Given the description of an element on the screen output the (x, y) to click on. 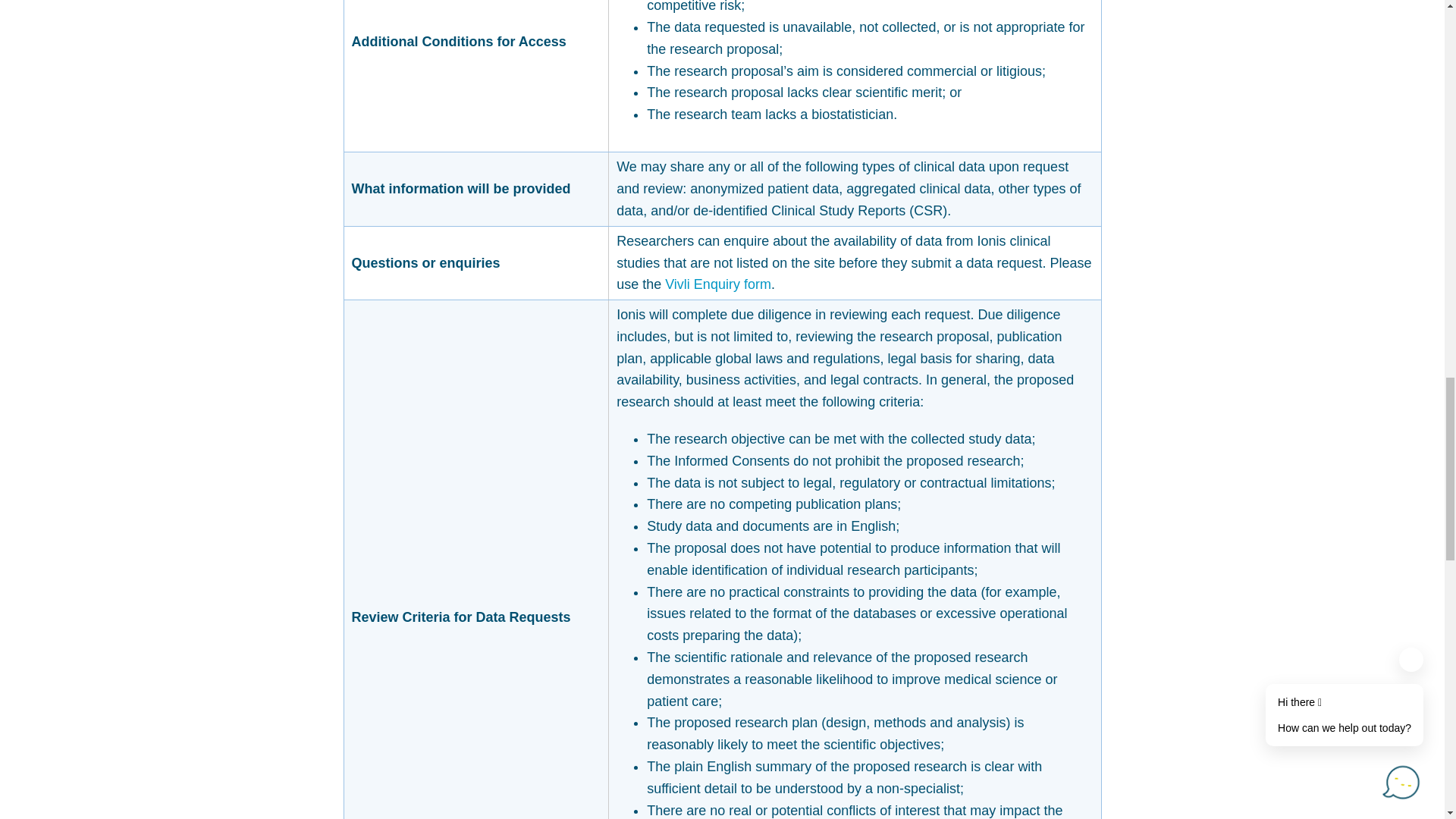
Vivli Enquiry form (718, 283)
